Given the description of an element on the screen output the (x, y) to click on. 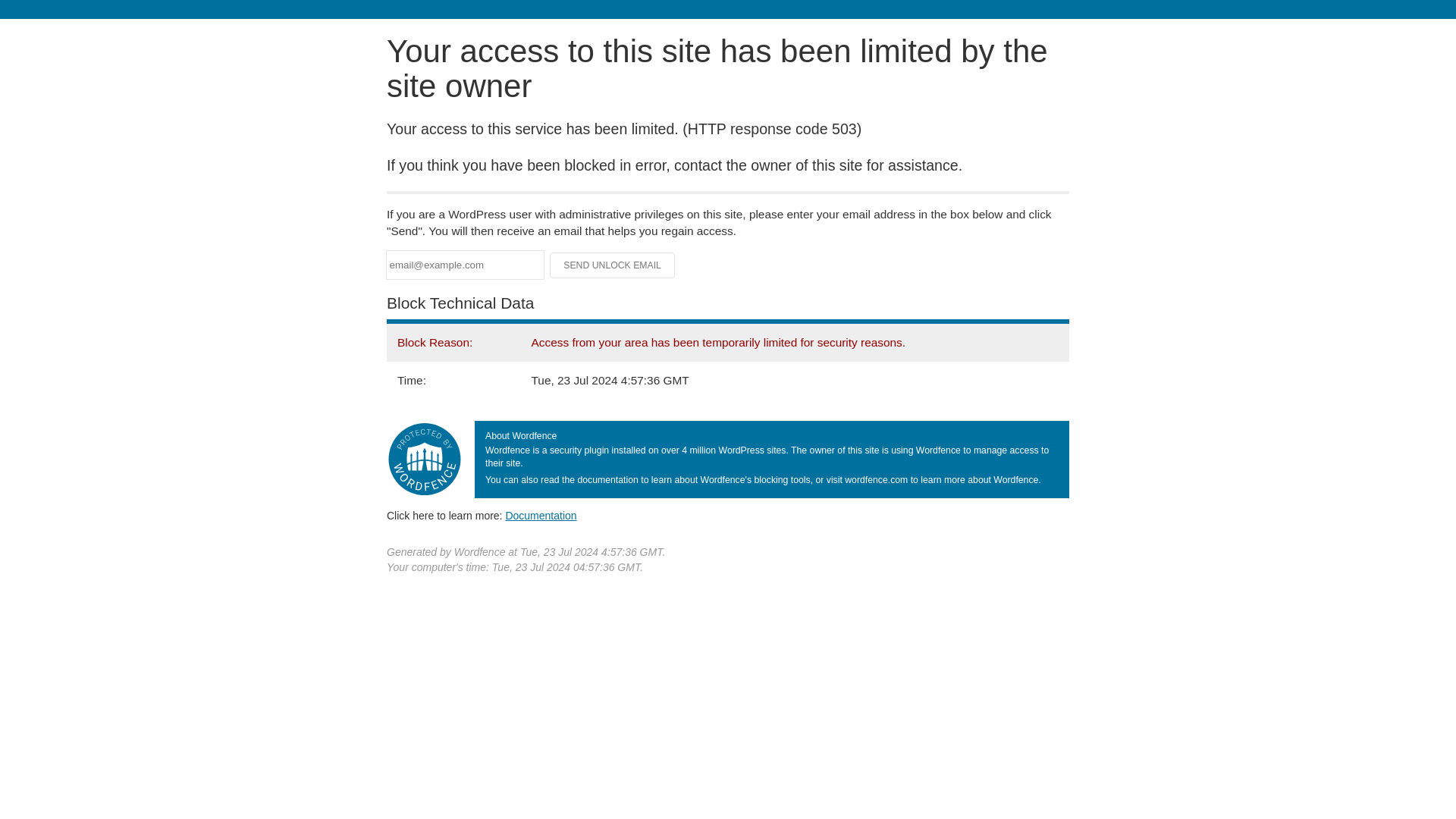
Documentation (540, 515)
Send Unlock Email (612, 265)
Send Unlock Email (612, 265)
